Given the description of an element on the screen output the (x, y) to click on. 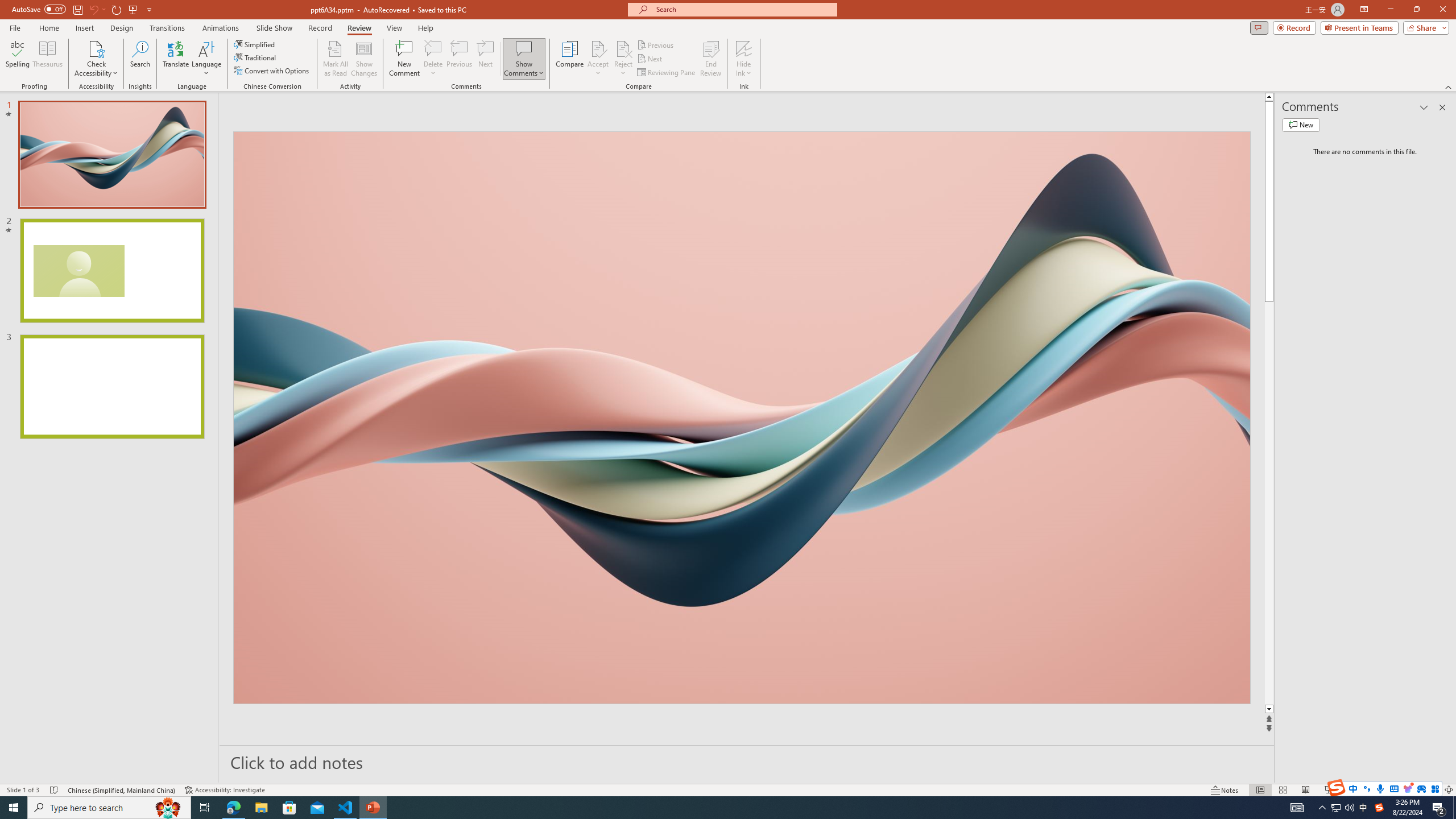
Thesaurus... (47, 58)
Delete (432, 48)
End Review (710, 58)
Reject (622, 58)
Reject Change (622, 48)
Check Accessibility (95, 48)
New Comment (403, 58)
